Given the description of an element on the screen output the (x, y) to click on. 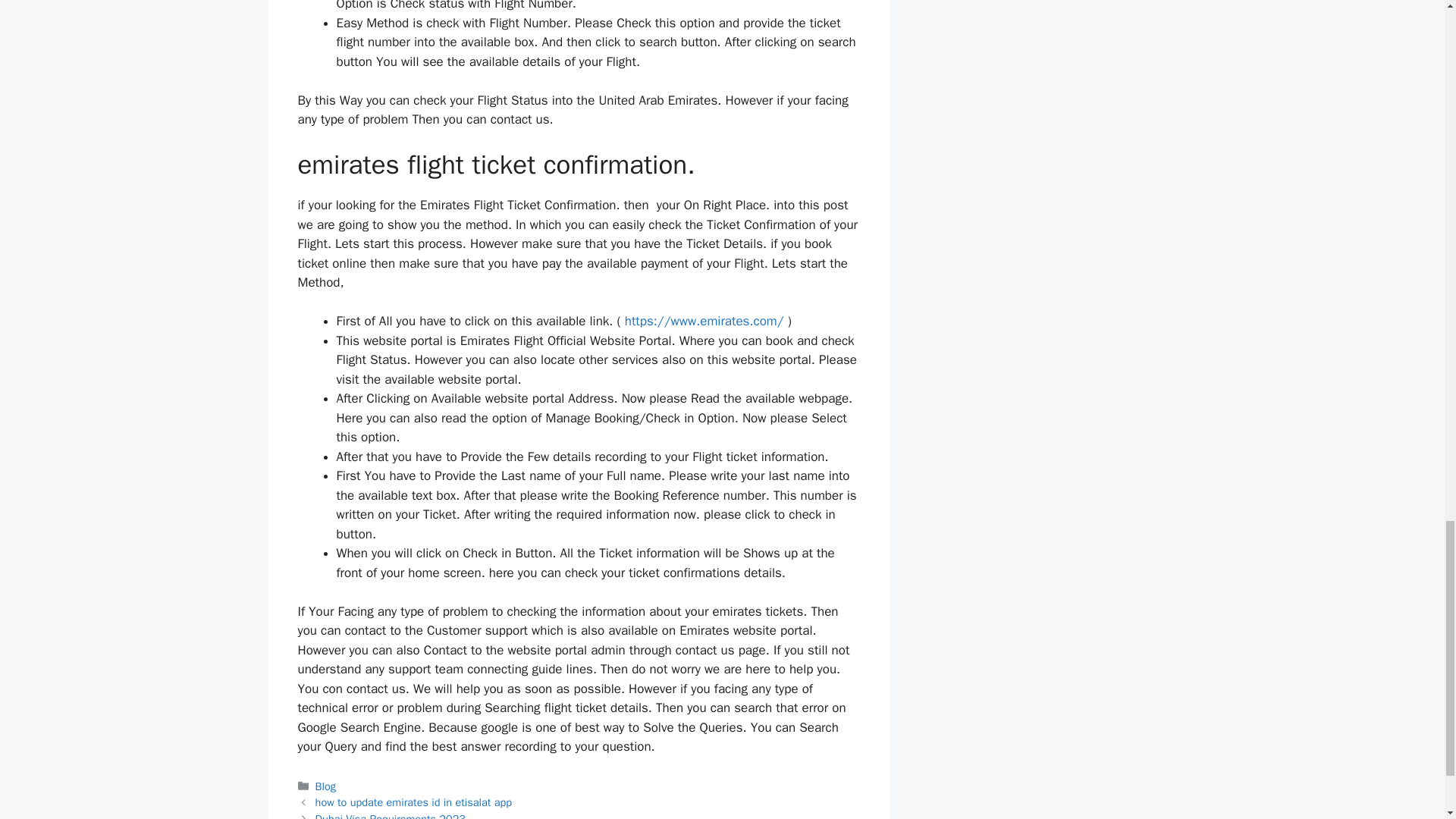
Dubai Visa Requirements 2023 (390, 815)
how to update emirates id in etisalat app (413, 802)
Blog (325, 786)
